Given the description of an element on the screen output the (x, y) to click on. 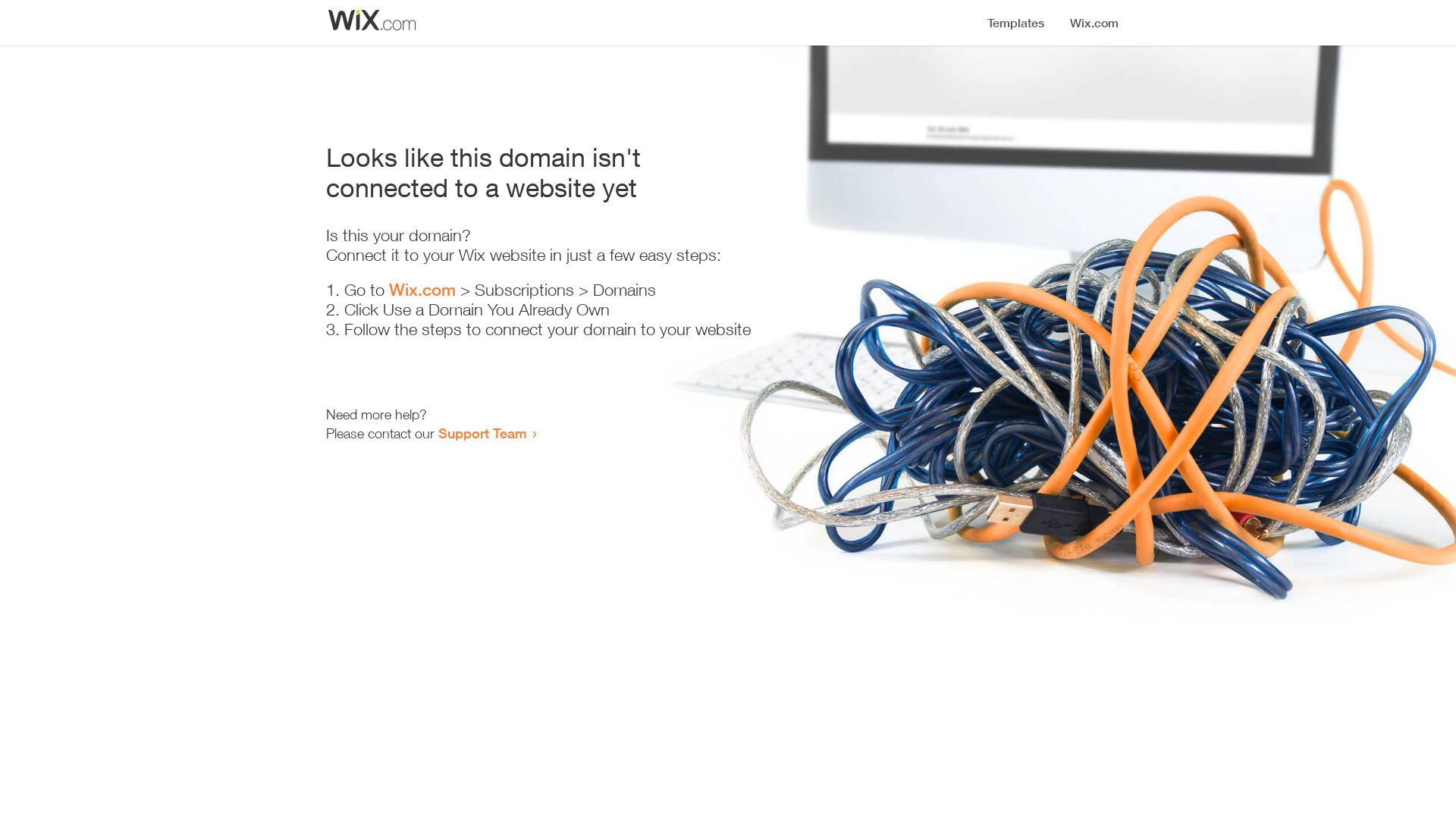
Support Team Element type: text (482, 432)
Wix.com Element type: text (422, 289)
